Given the description of an element on the screen output the (x, y) to click on. 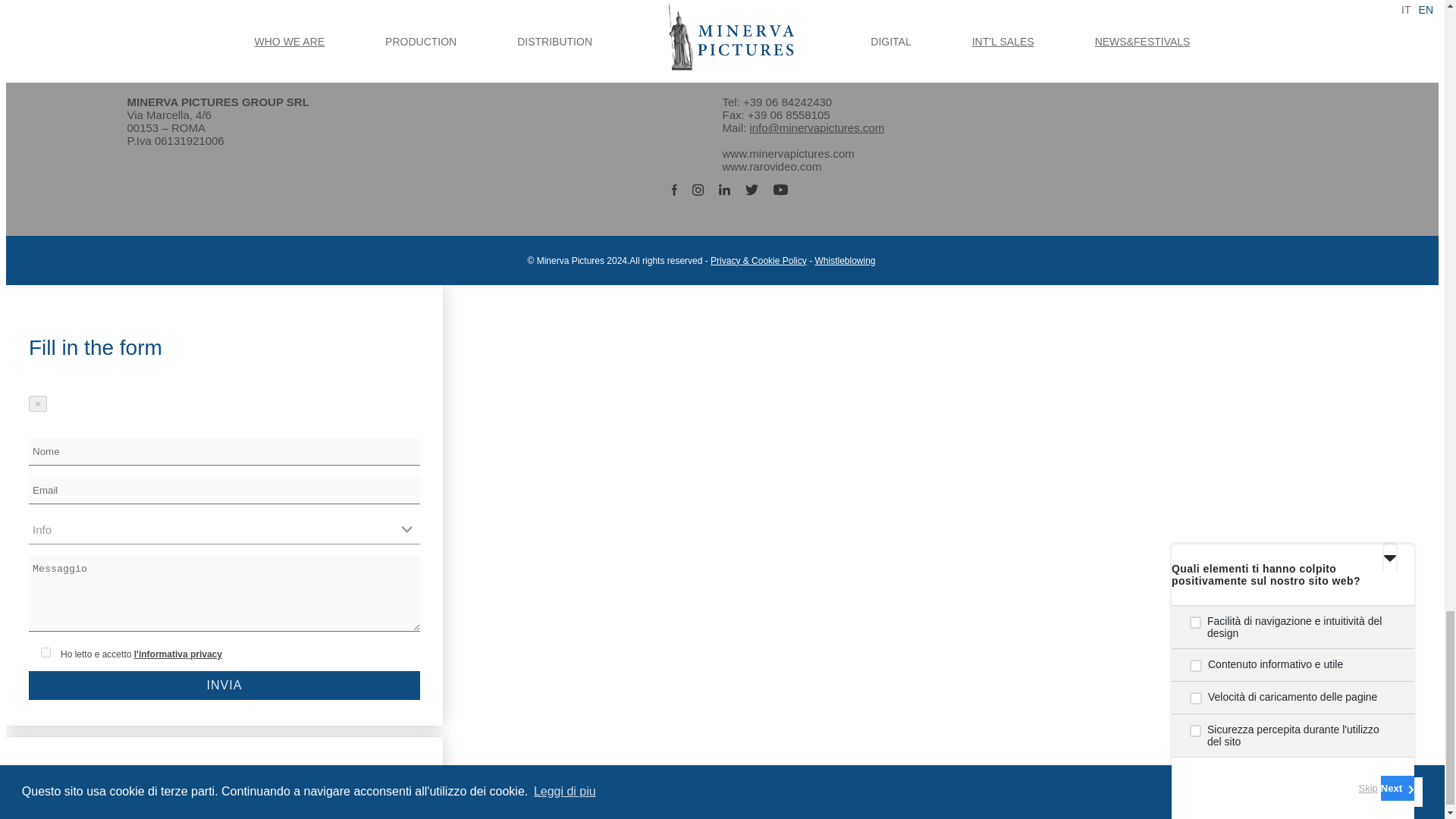
Invia (224, 685)
1 (45, 652)
